Given the description of an element on the screen output the (x, y) to click on. 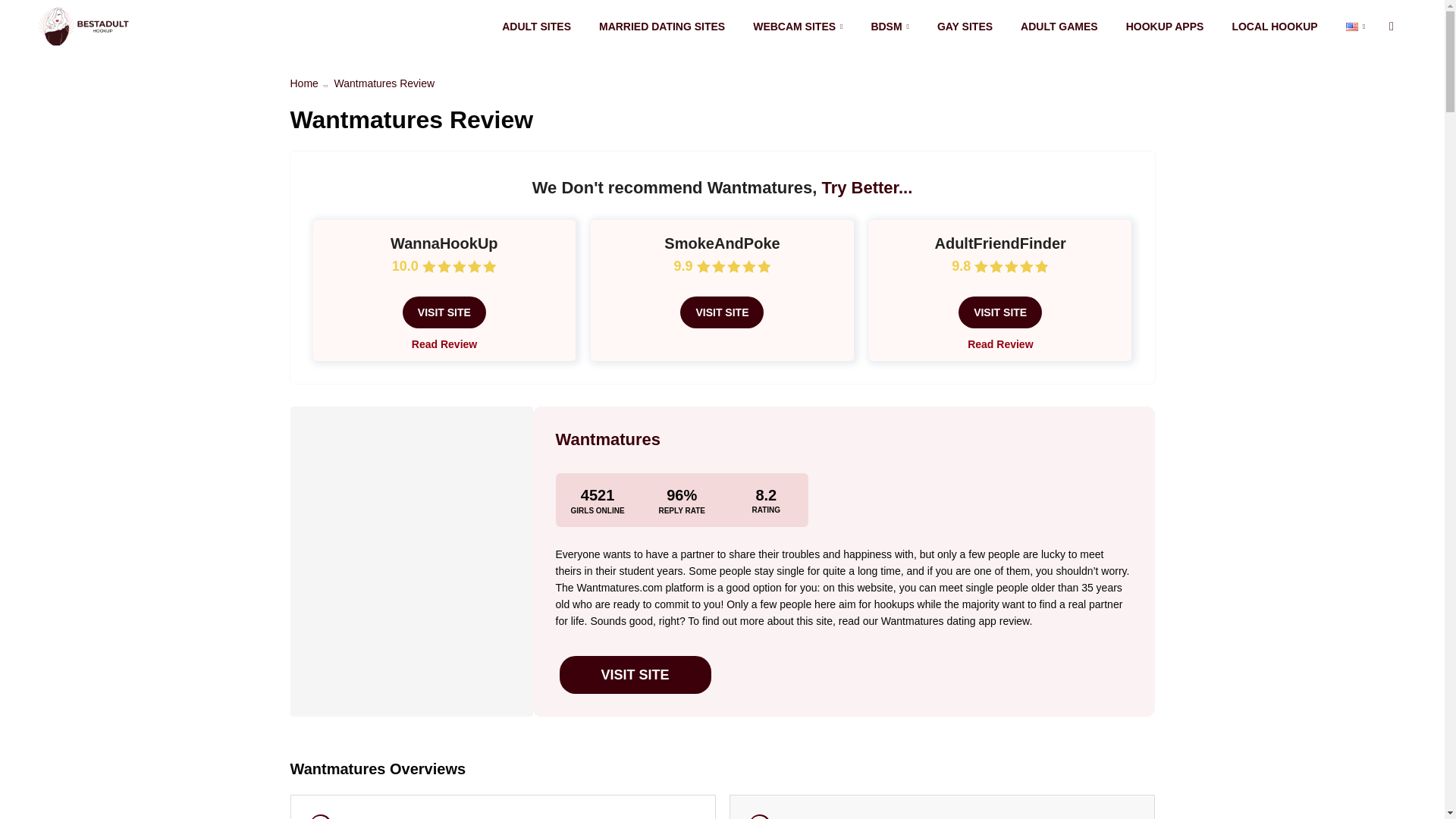
Read Review (1000, 344)
VISIT SITE (444, 312)
ADULT SITES (536, 26)
LOCAL HOOKUP (1274, 26)
WEBCAM SITES (797, 26)
VISIT SITE (720, 312)
MARRIED DATING SITES (661, 26)
Best Adult Hookup Sites (83, 26)
GAY SITES (964, 26)
Home (303, 82)
VISIT SITE (1000, 312)
Our Score (459, 266)
VISIT SITE (635, 674)
HOOKUP APPS (1164, 26)
Read Review (444, 344)
